Given the description of an element on the screen output the (x, y) to click on. 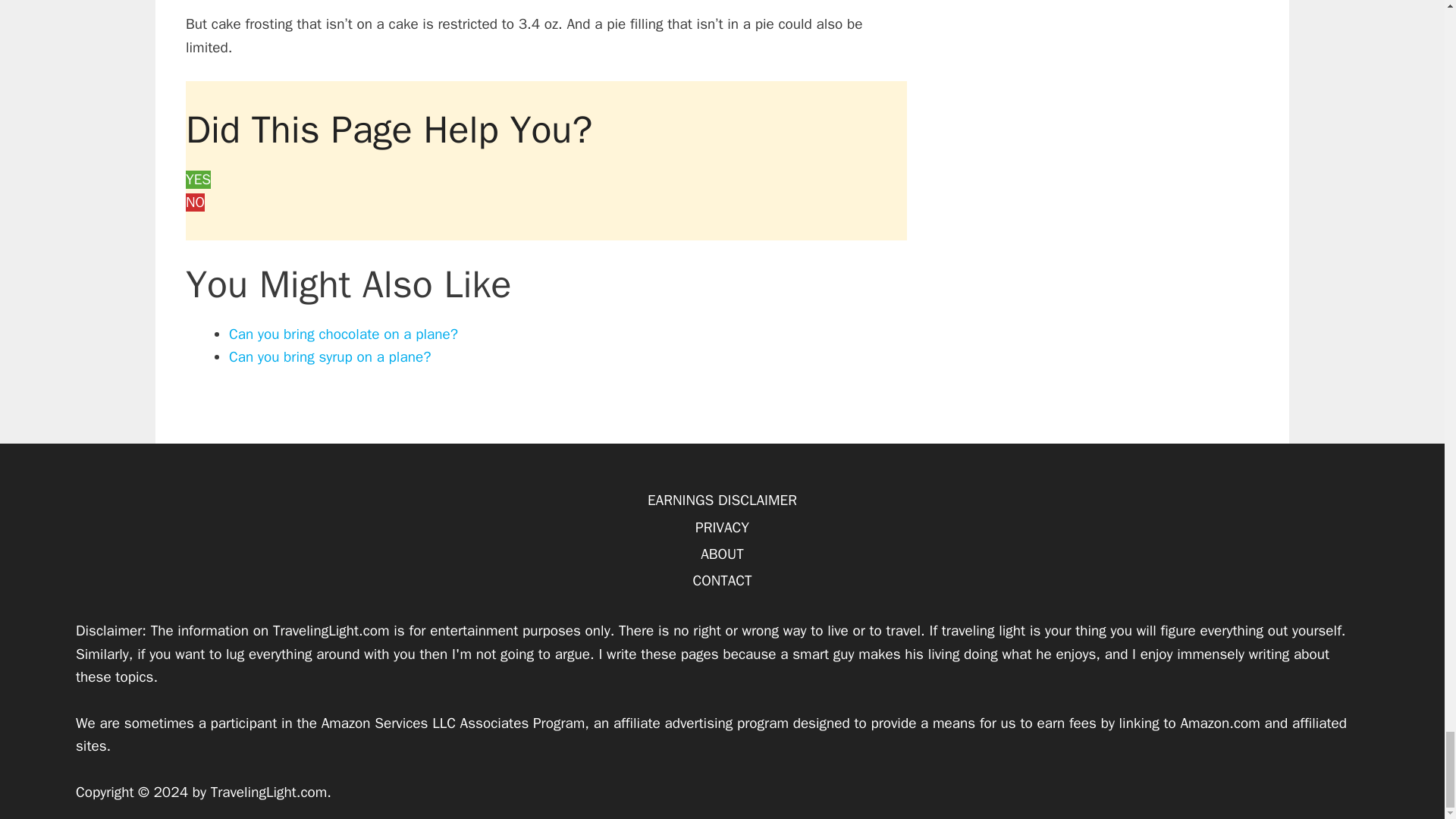
PRIVACY (722, 527)
Can you bring syrup on a plane? (329, 357)
CONTACT (722, 580)
ABOUT (722, 554)
Can you bring chocolate on a plane? (343, 334)
YES (198, 179)
NO (195, 202)
EARNINGS DISCLAIMER (721, 500)
